Given the description of an element on the screen output the (x, y) to click on. 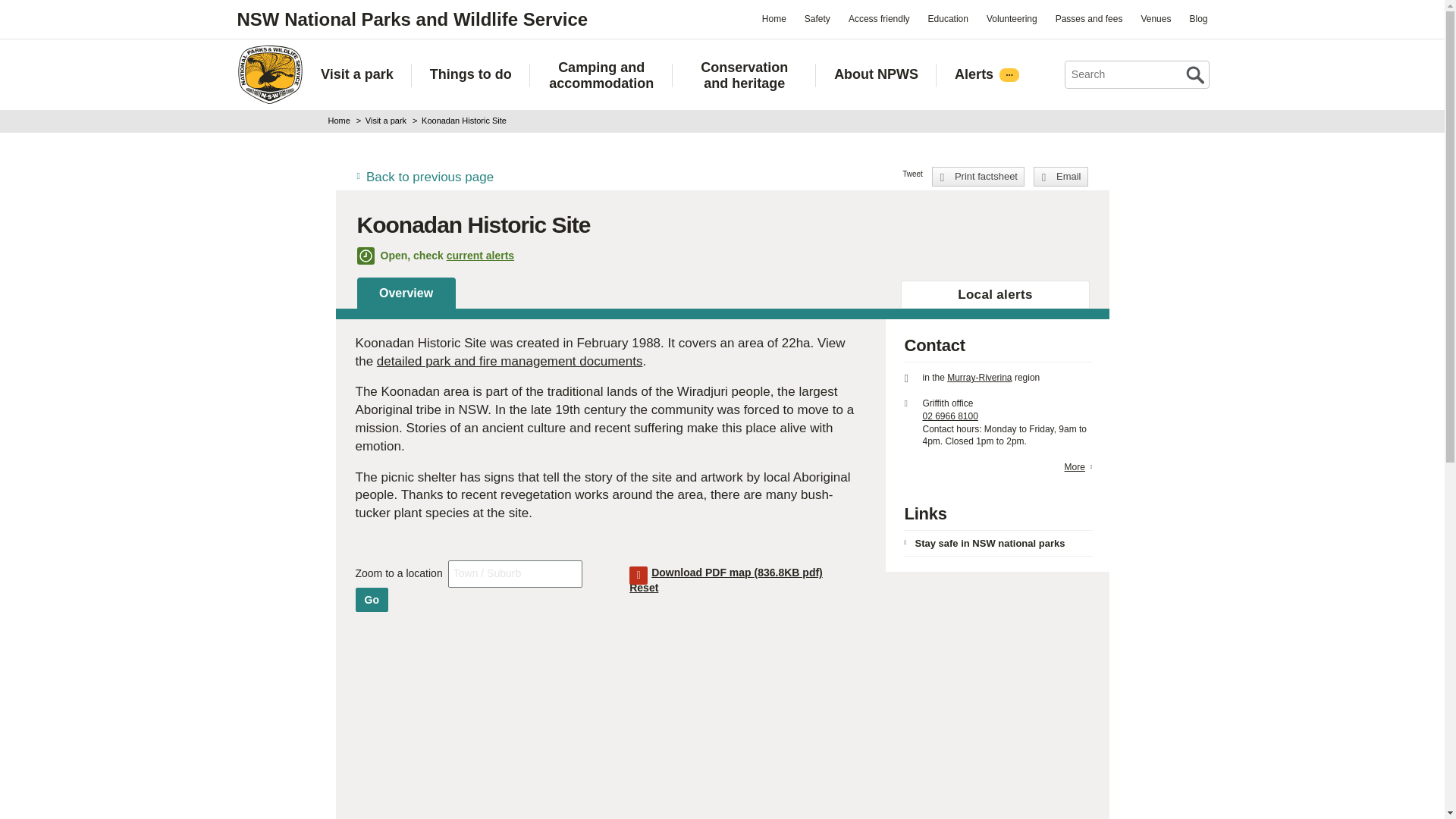
Blog (1197, 18)
Print-friendly version of these webpages (978, 176)
Things to do (470, 74)
About NPWS (876, 74)
Access friendly (879, 18)
Home (773, 18)
Passes and fees (1089, 18)
Conservation and heritage (743, 75)
Safety (816, 18)
Go (371, 599)
